Given the description of an element on the screen output the (x, y) to click on. 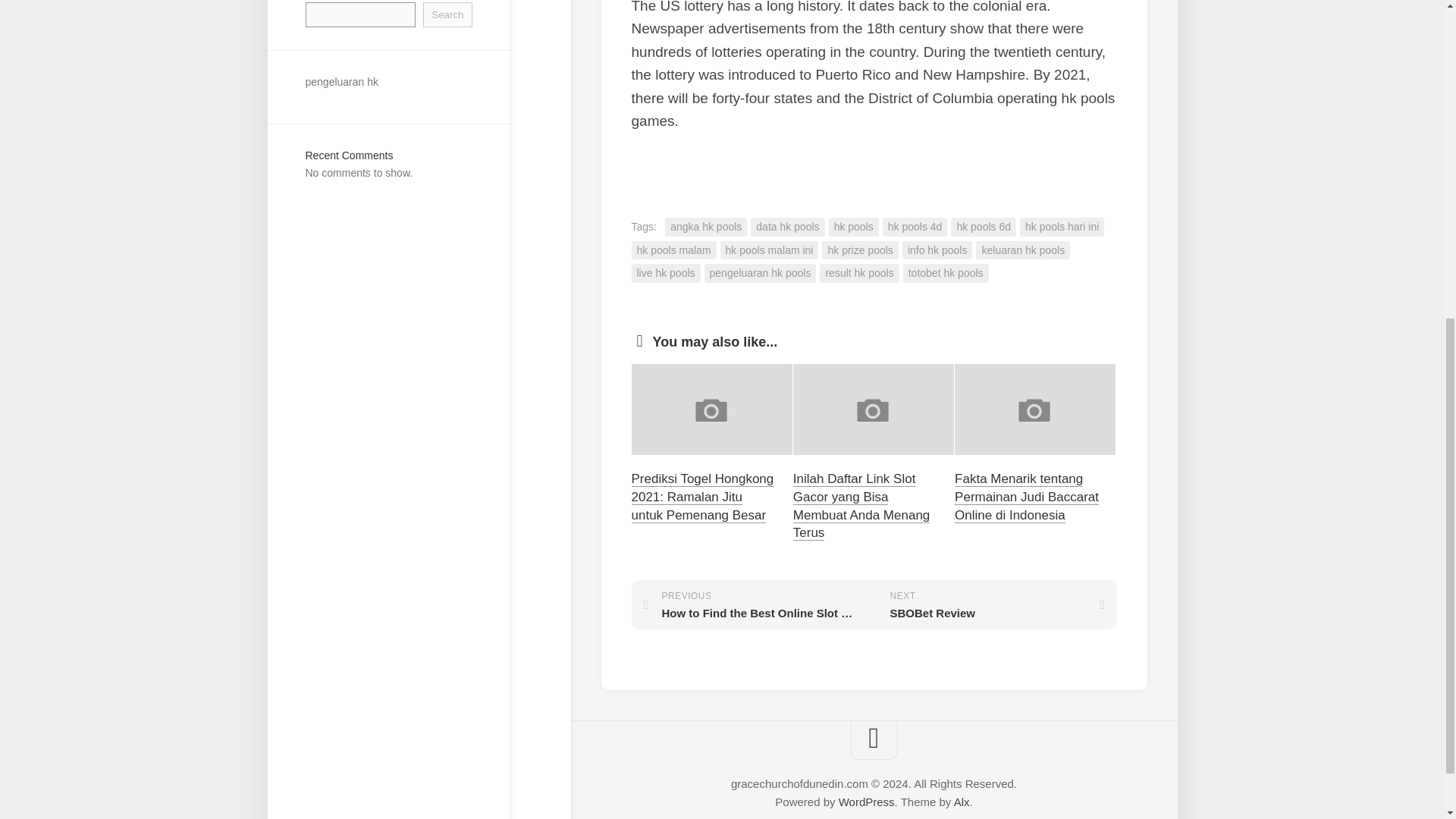
pengeluaran hk (341, 81)
result hk pools (858, 272)
hk pools malam (673, 250)
live hk pools (665, 272)
angka hk pools (705, 226)
Search (447, 14)
hk prize pools (860, 250)
data hk pools (787, 226)
hk pools malam ini (769, 250)
hk pools 4d (914, 226)
info hk pools (937, 250)
hk pools (853, 226)
pengeluaran hk pools (760, 272)
hk pools 6d (983, 226)
